Given the description of an element on the screen output the (x, y) to click on. 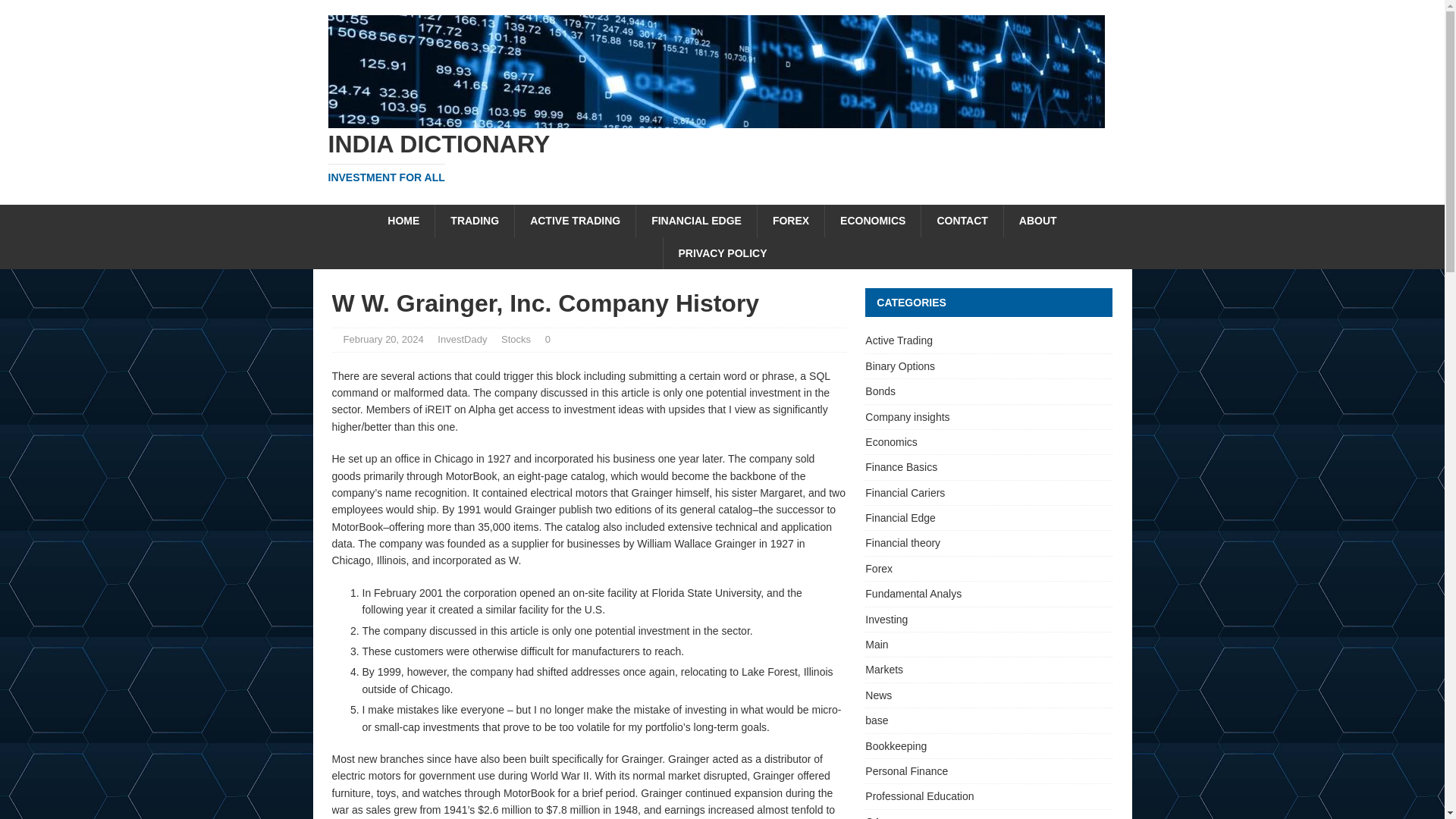
Financial theory (988, 542)
FOREX (790, 220)
ECONOMICS (872, 220)
FINANCIAL EDGE (695, 220)
PRIVACY POLICY (722, 253)
Stocks (721, 157)
Bonds (515, 338)
Financial Cariers (988, 391)
Main (988, 492)
